Given the description of an element on the screen output the (x, y) to click on. 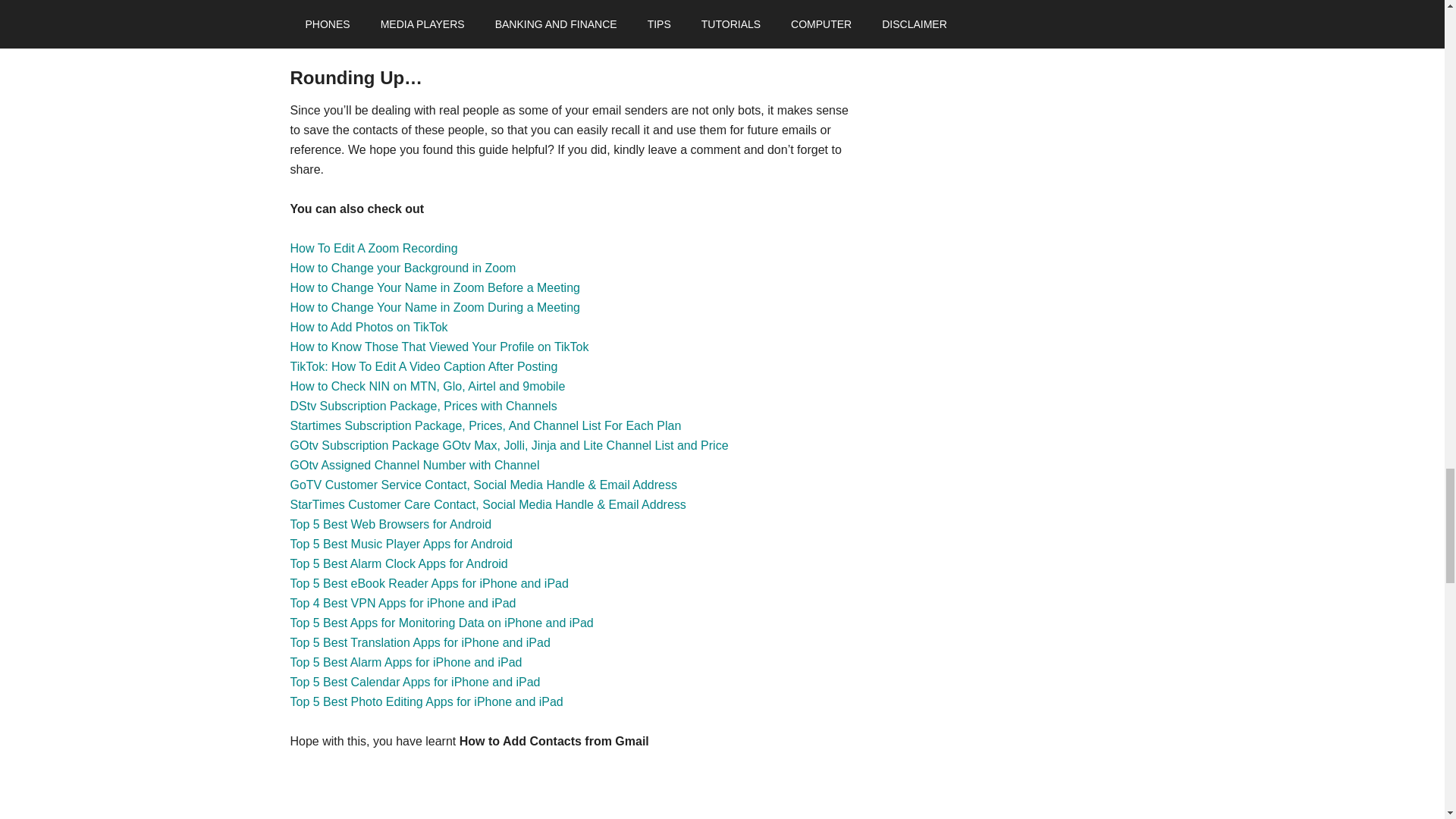
GOtv Assigned Channel Number with Channel (413, 464)
How to Change Your Name in Zoom Before a Meeting (434, 287)
Top 5 Best Web Browsers for Android (390, 523)
DStv Subscription Package, Prices with Channels (422, 405)
Top 5 Best Apps for Monitoring Data on iPhone and iPad (440, 622)
How to Add Photos on TikTok (367, 327)
Top 5 Best eBook Reader Apps for iPhone and iPad (428, 583)
How to Know Those That Viewed Your Profile on TikTok (438, 346)
Top 5 Best Music Player Apps for Android (400, 543)
How to Change Your Name in Zoom During a Meeting (434, 307)
Top 5 Best Translation Apps for iPhone and iPad (419, 642)
Top 4 Best VPN Apps for iPhone and iPad (402, 603)
How to Change your Background in Zoom (402, 267)
